Given the description of an element on the screen output the (x, y) to click on. 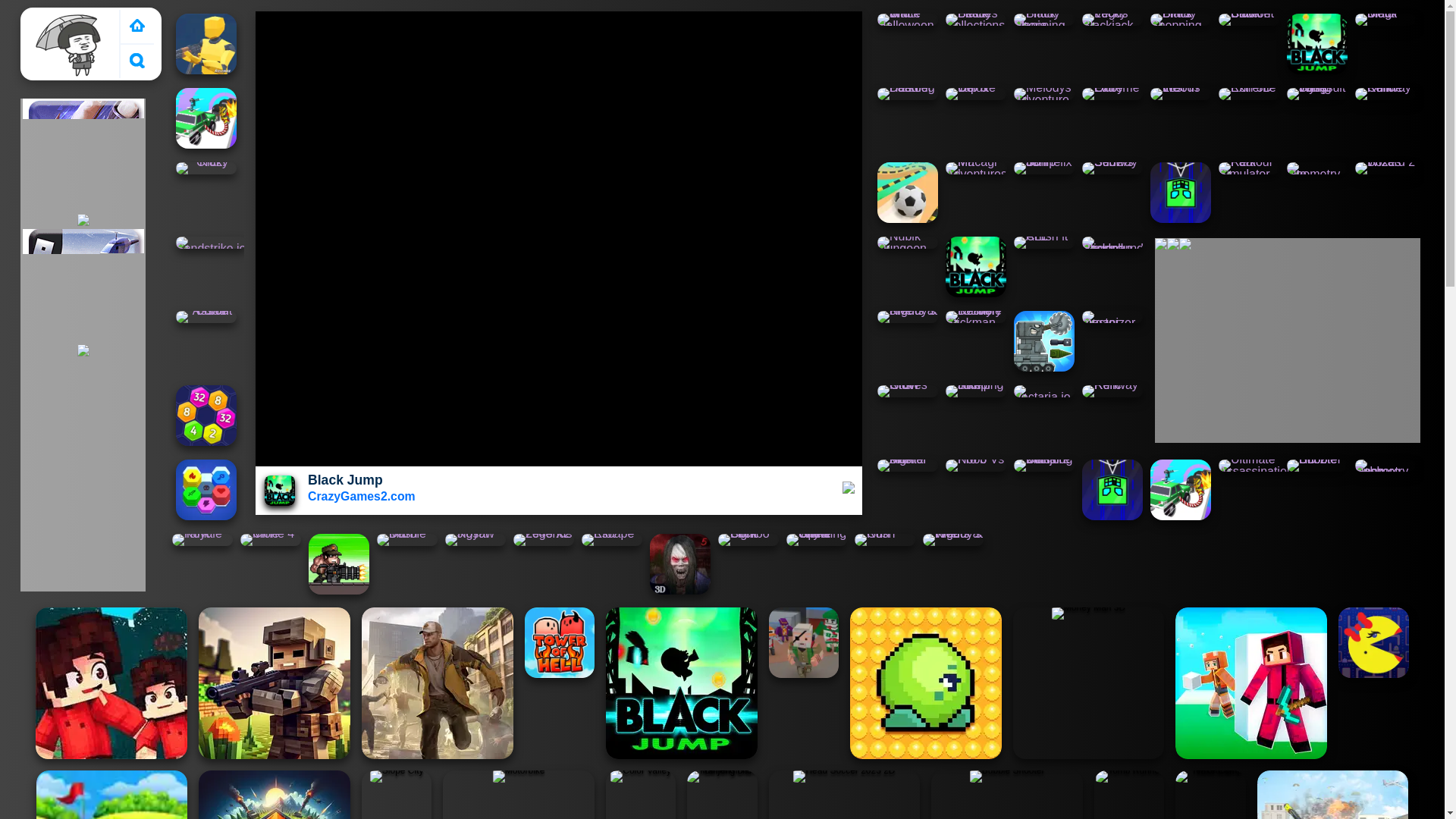
Crazy Games (136, 26)
full screen (848, 489)
Crazy Games 2 (73, 43)
Crazy Games 2 (73, 43)
